Given the description of an element on the screen output the (x, y) to click on. 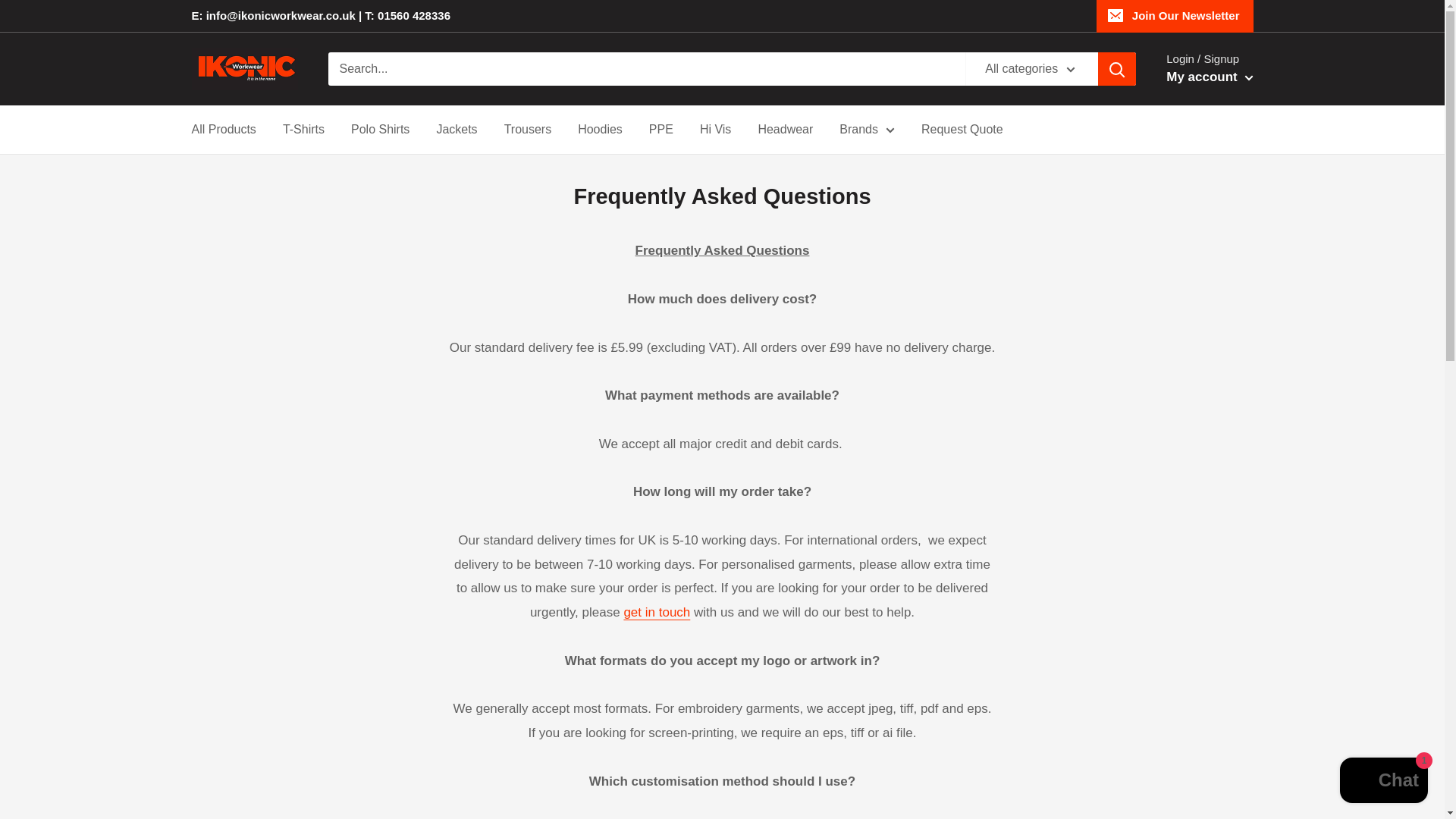
My account (1209, 77)
Ikonic Workwear (243, 68)
Join Our Newsletter (1174, 15)
Contact Us (656, 612)
Shopify online store chat (1383, 781)
